Given the description of an element on the screen output the (x, y) to click on. 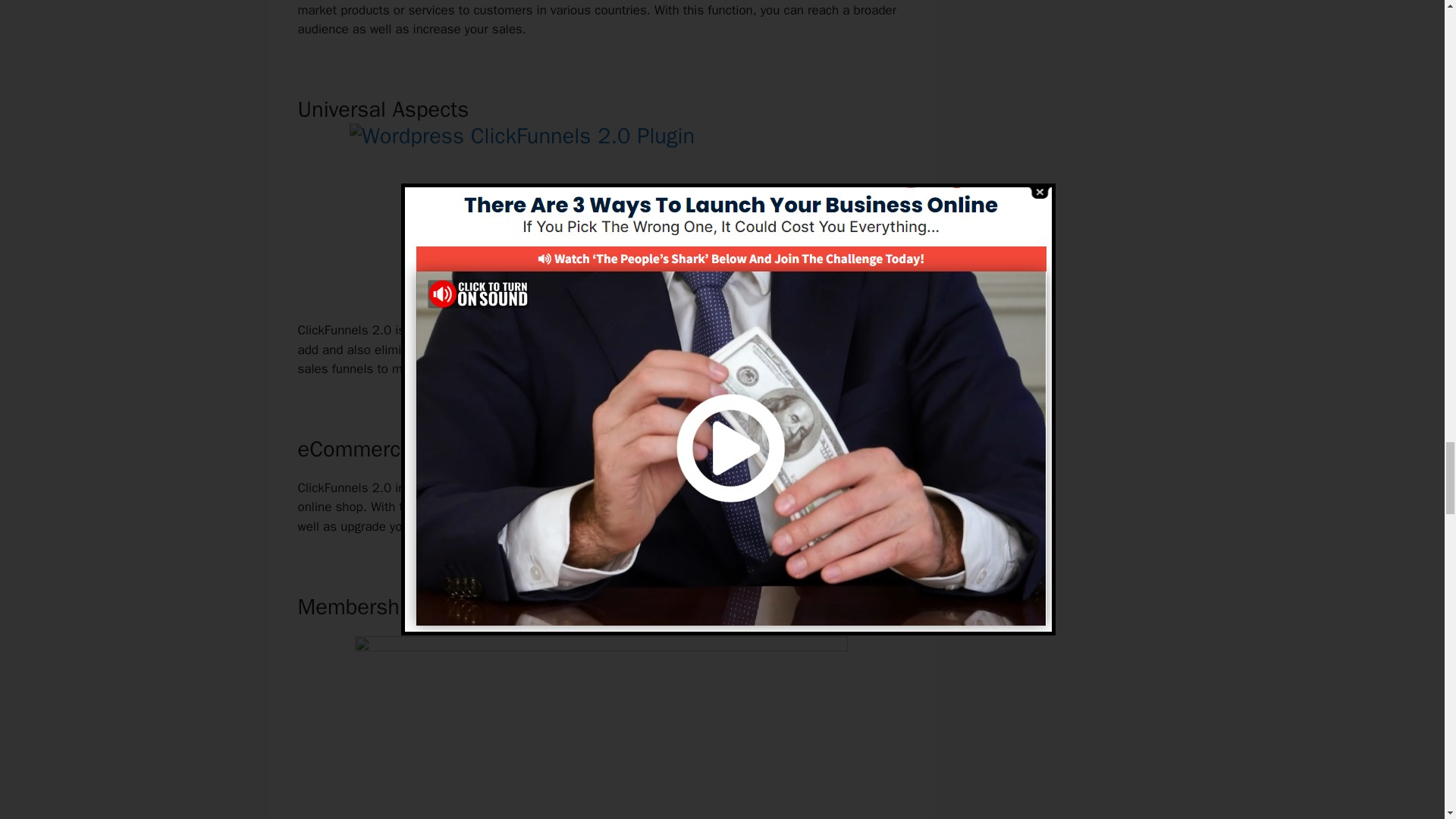
eCommerce (453, 506)
